Given the description of an element on the screen output the (x, y) to click on. 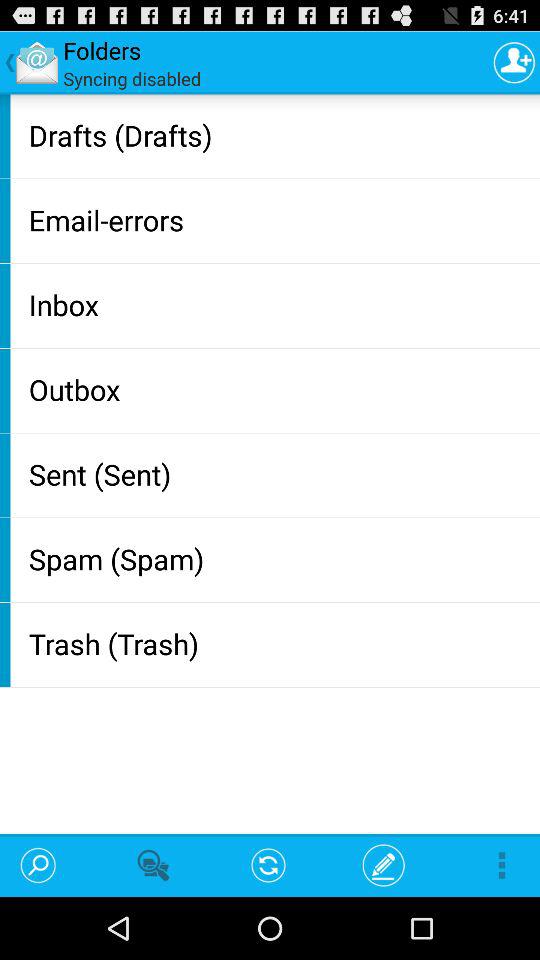
scroll until email-errors (280, 219)
